Given the description of an element on the screen output the (x, y) to click on. 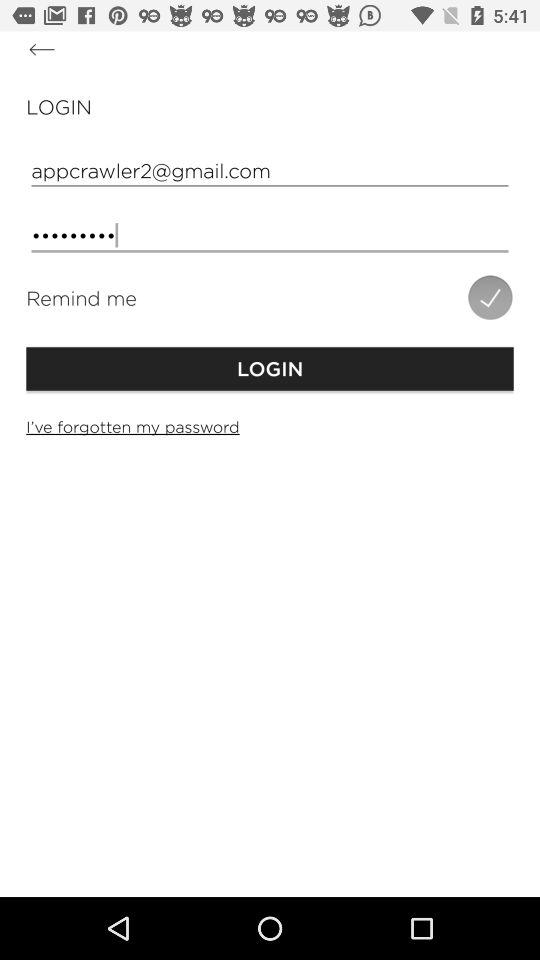
select appcrawler2@gmail.com (269, 170)
